Given the description of an element on the screen output the (x, y) to click on. 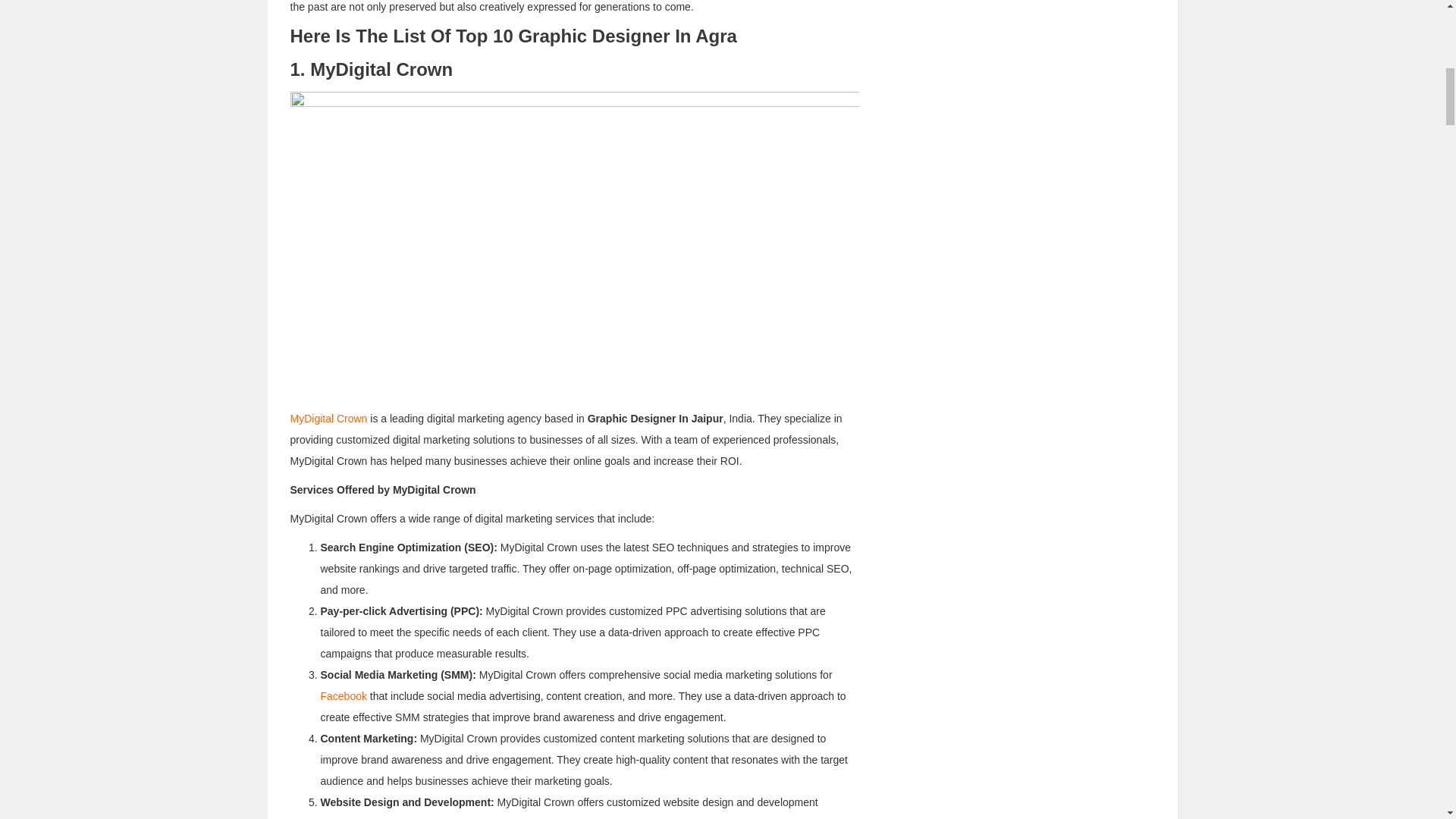
MyDigital Crown (327, 418)
Facebook (343, 695)
